Given the description of an element on the screen output the (x, y) to click on. 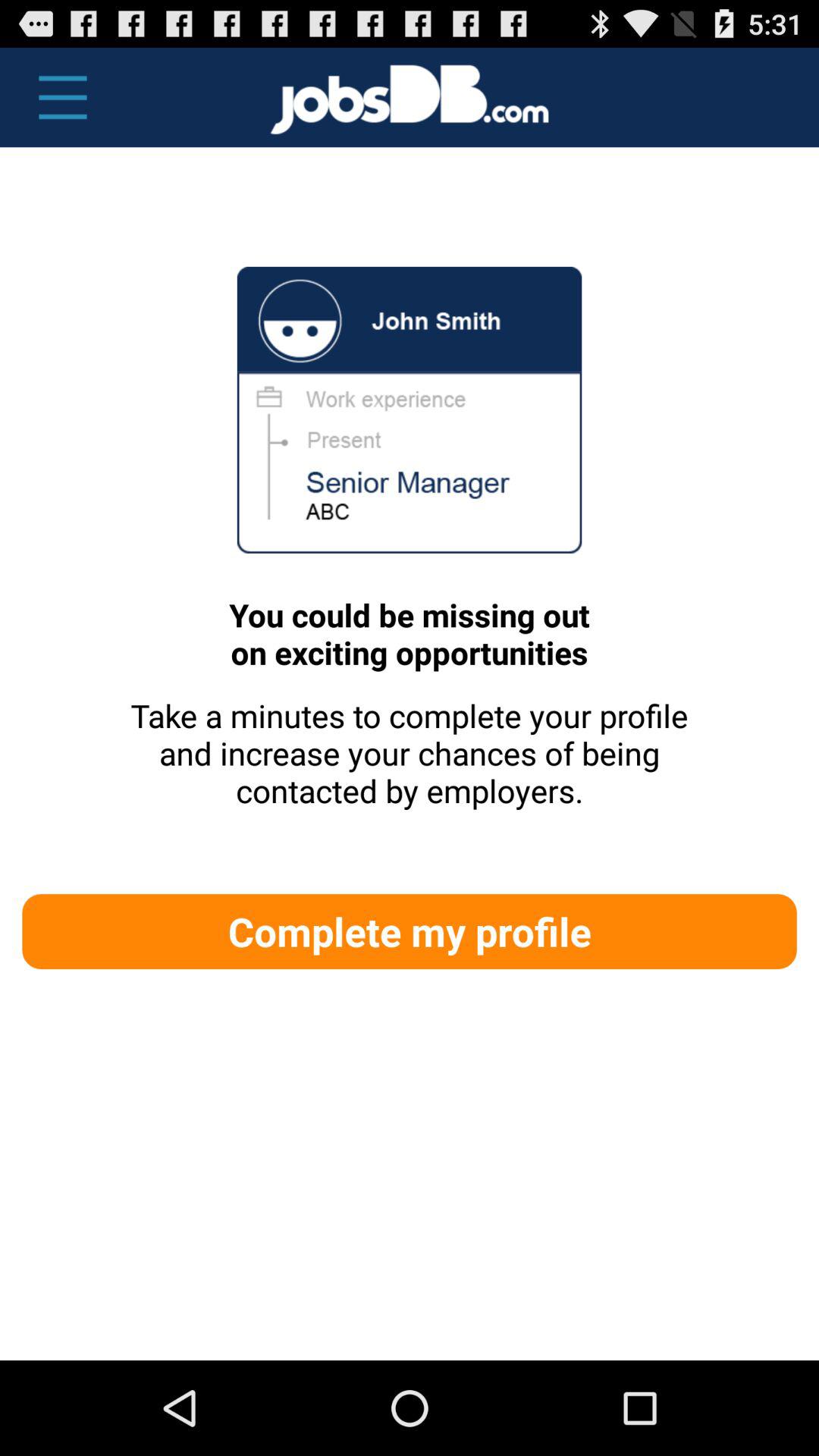
select the orange color box (409, 931)
